Given the description of an element on the screen output the (x, y) to click on. 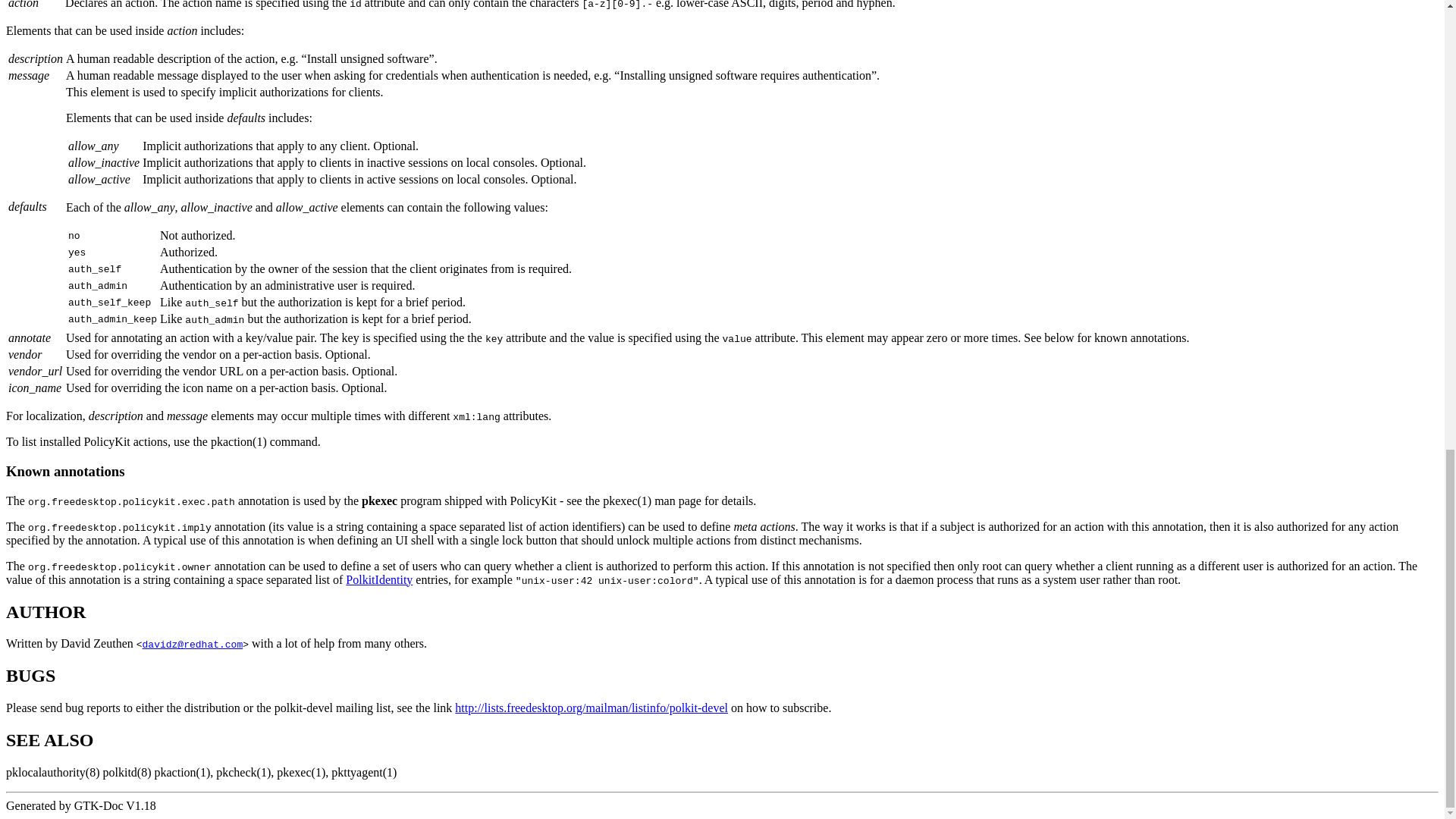
PolkitIdentity (379, 579)
PolkitIdentity (379, 579)
